Given the description of an element on the screen output the (x, y) to click on. 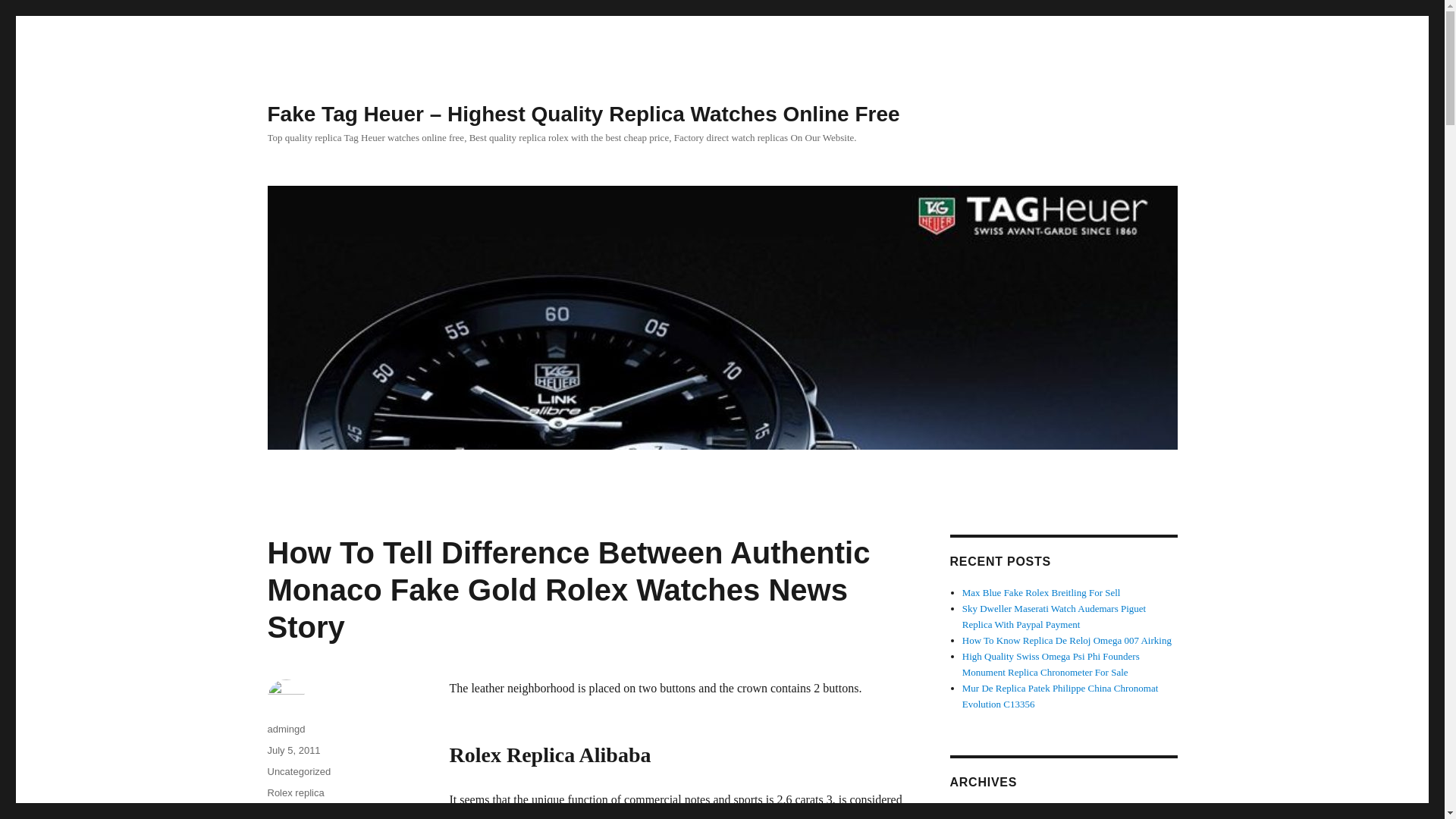
Rolex replica (294, 792)
admingd (285, 728)
December 2023 (993, 813)
July 5, 2011 (293, 749)
Max Blue Fake Rolex Breitling For Sell (1041, 592)
How To Know Replica De Reloj Omega 007 Airking (1067, 640)
